Given the description of an element on the screen output the (x, y) to click on. 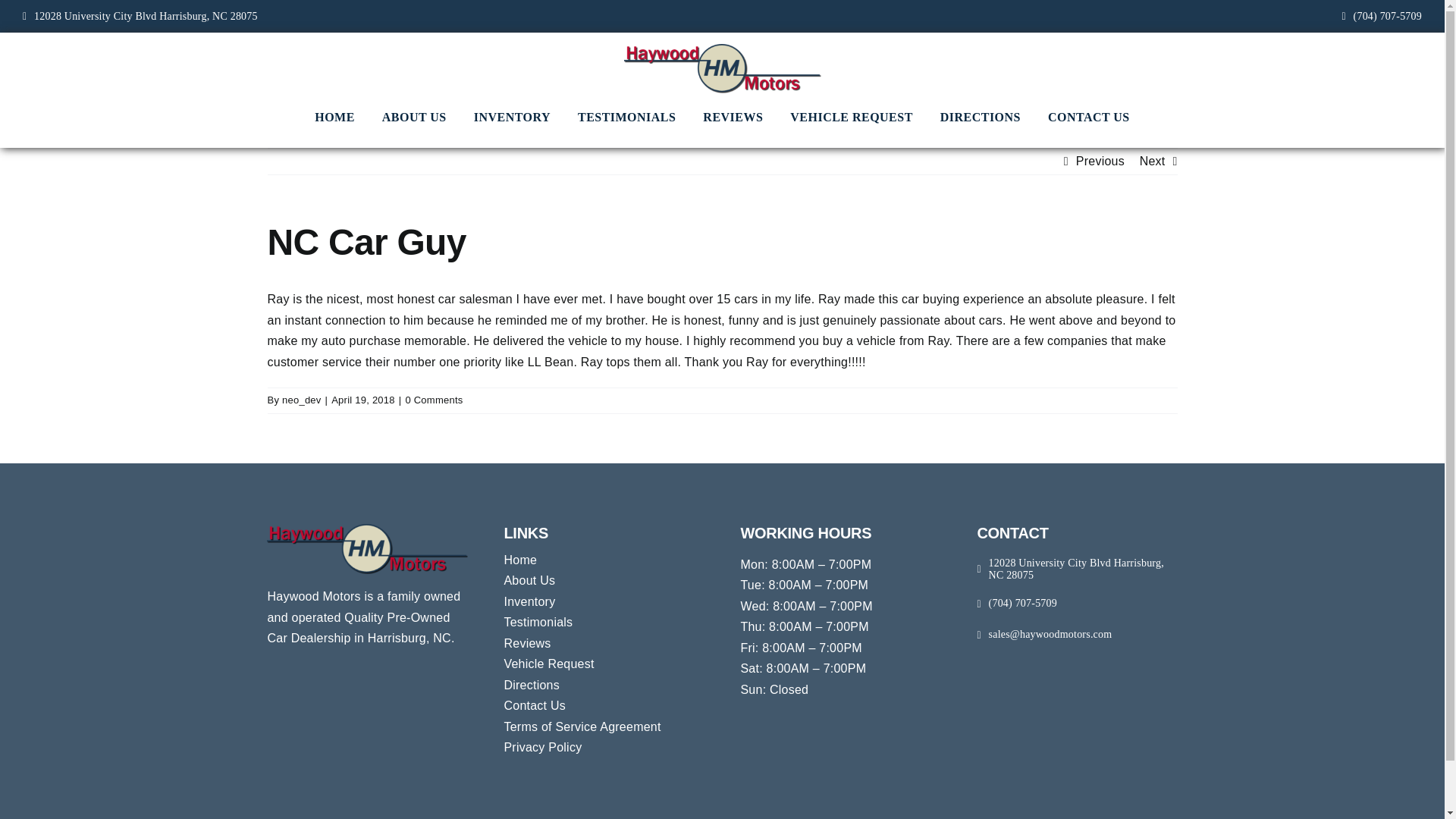
Home (603, 559)
12028 University City Blvd Harrisburg, NC 28075 (1076, 570)
Contact Us (603, 705)
Previous (1099, 161)
CONTACT US (1088, 117)
About Us (603, 580)
DIRECTIONS (980, 117)
Reviews (603, 643)
Privacy Policy (603, 747)
12028 University City Blvd Harrisburg, NC 28075 (140, 16)
